Given the description of an element on the screen output the (x, y) to click on. 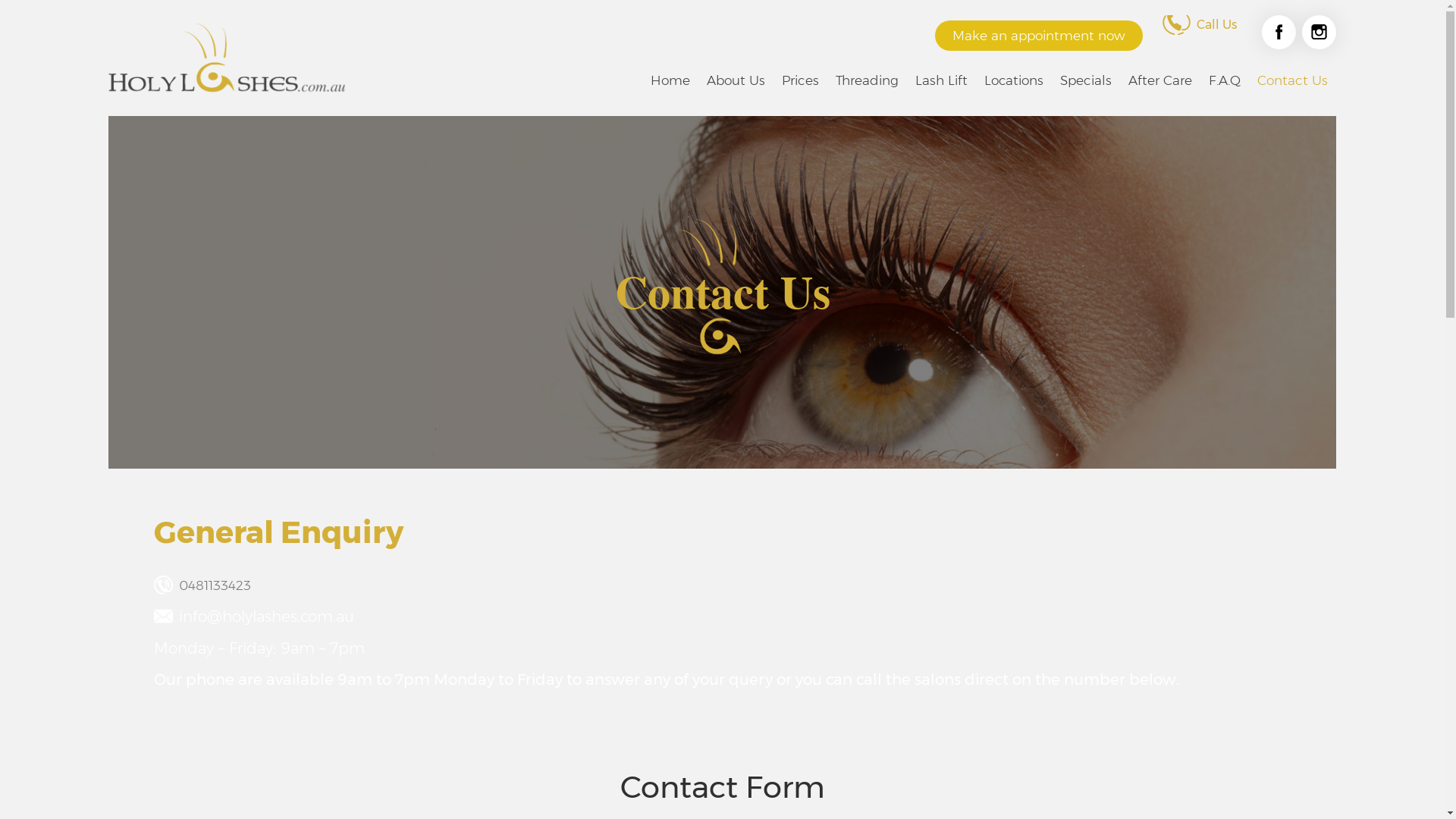
Prices Element type: text (800, 80)
Instagram Element type: hover (1319, 32)
Facebook Element type: hover (1278, 31)
Lash Lift Element type: text (940, 80)
HOLYLASHES | EYELASH EXTENSIONS MELBOURNE Element type: text (226, 58)
Home Element type: text (670, 80)
After Care Element type: text (1160, 80)
Threading Element type: text (866, 80)
Locations Element type: text (1013, 80)
Instagram Element type: hover (1319, 31)
F.A.Q Element type: text (1224, 80)
Contact Us Element type: text (1292, 80)
Specials Element type: text (1085, 80)
Make an appointment now Element type: text (1038, 35)
Facebook Element type: hover (1278, 32)
info@holylashes.com.au Element type: text (266, 616)
About Us Element type: text (735, 80)
